Given the description of an element on the screen output the (x, y) to click on. 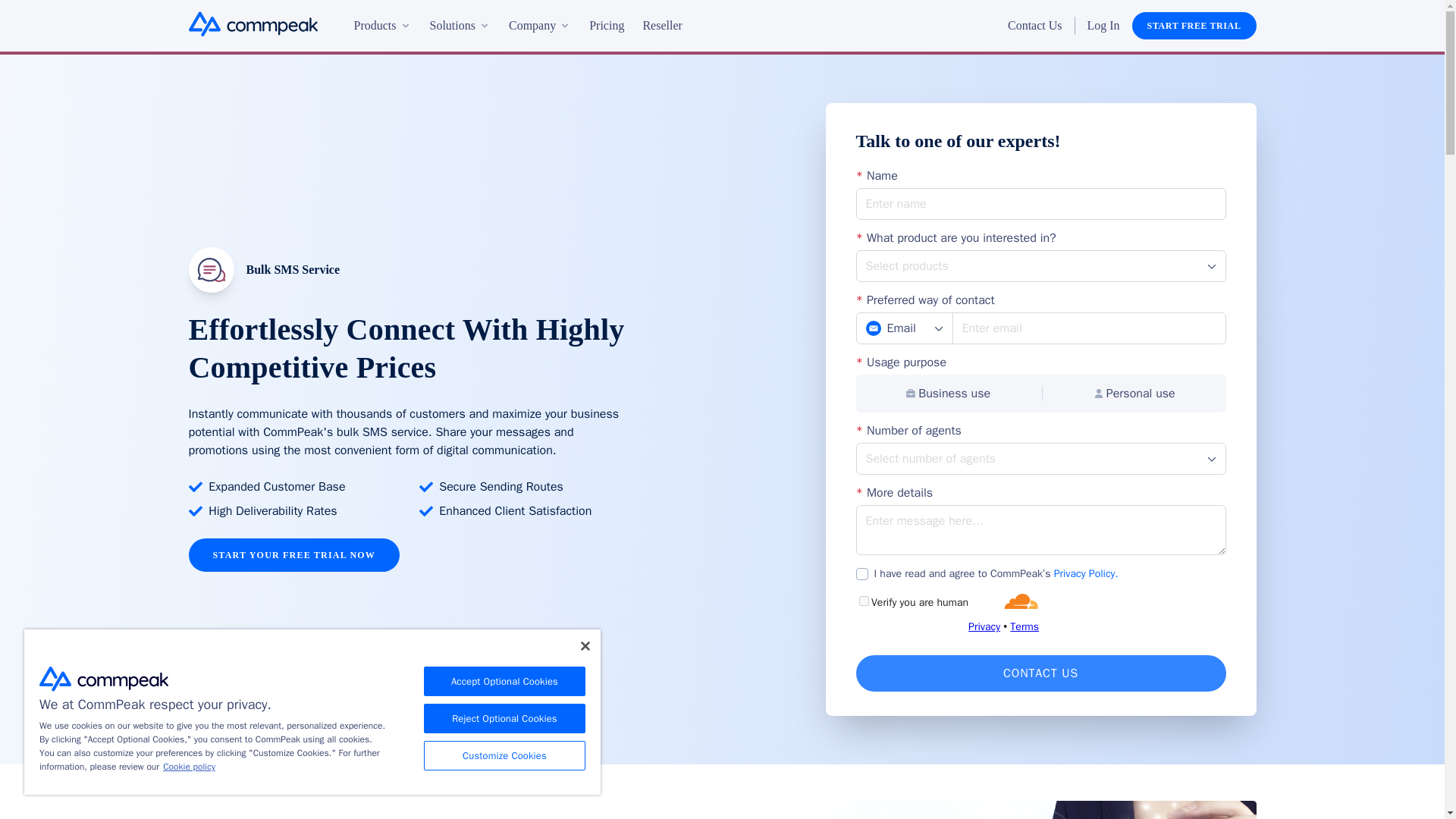
START YOUR FREE TRIAL NOW (292, 554)
Products (381, 25)
Company (539, 25)
START FREE TRIAL (1194, 25)
Reseller (661, 25)
Select products (1040, 265)
Solutions (459, 25)
on (861, 573)
Contact Us (1040, 673)
Select number of agents (1040, 459)
Contact Us (1040, 673)
Log In (1103, 25)
Contact Us (1034, 25)
Privacy Policy. (1086, 573)
Email (904, 327)
